Given the description of an element on the screen output the (x, y) to click on. 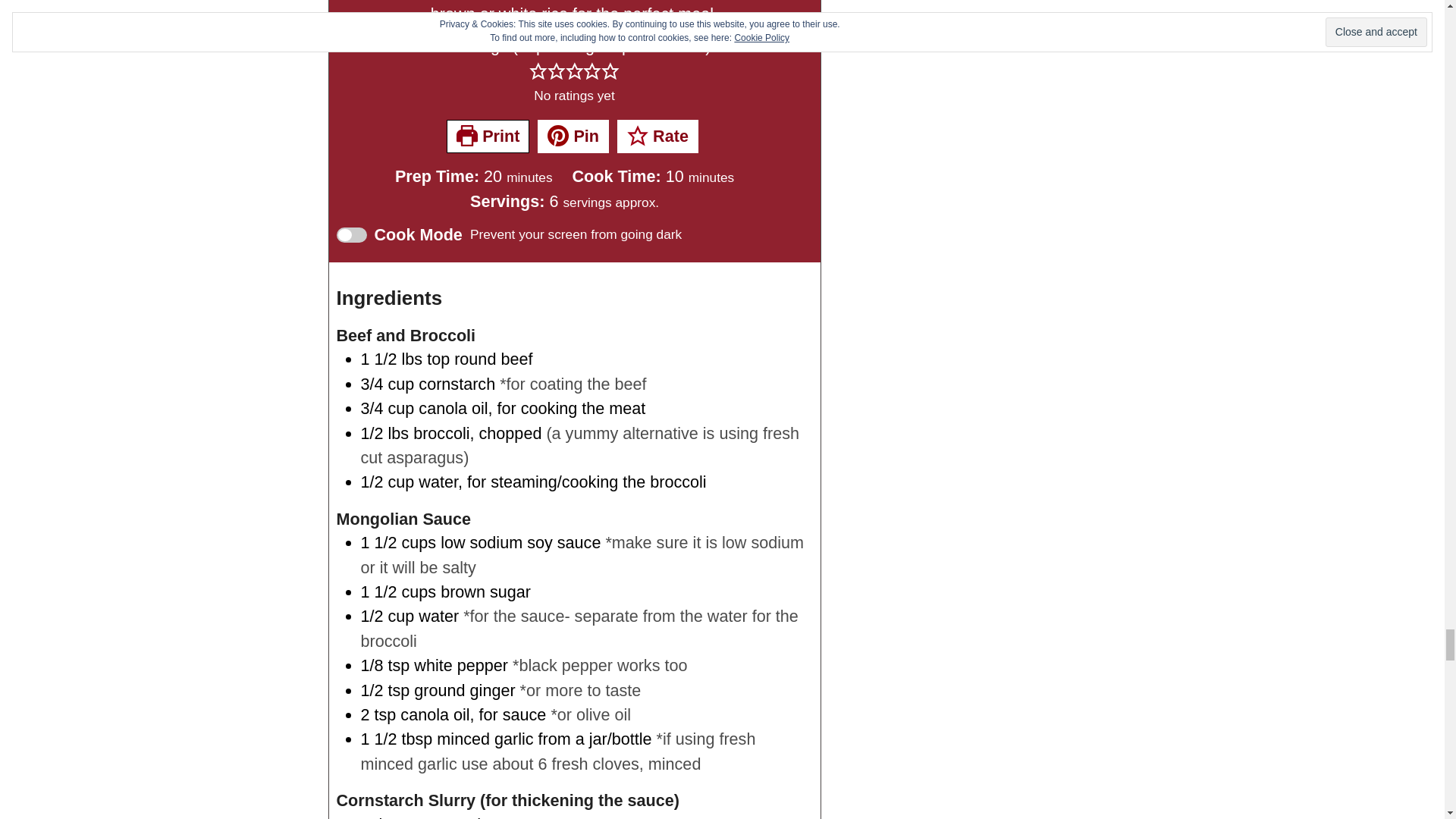
Pin (572, 136)
Rate (657, 136)
Print (487, 136)
